Given the description of an element on the screen output the (x, y) to click on. 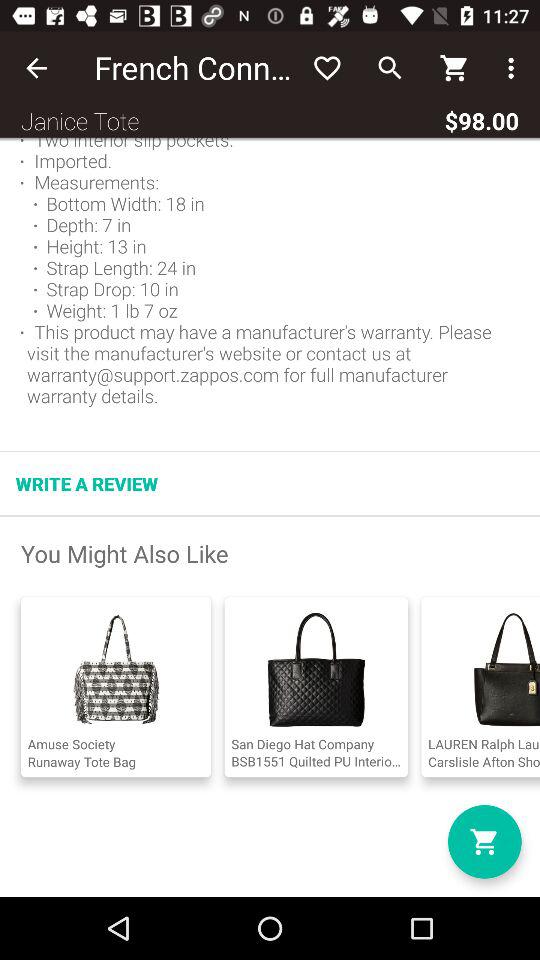
jump until the write a review (87, 483)
